Given the description of an element on the screen output the (x, y) to click on. 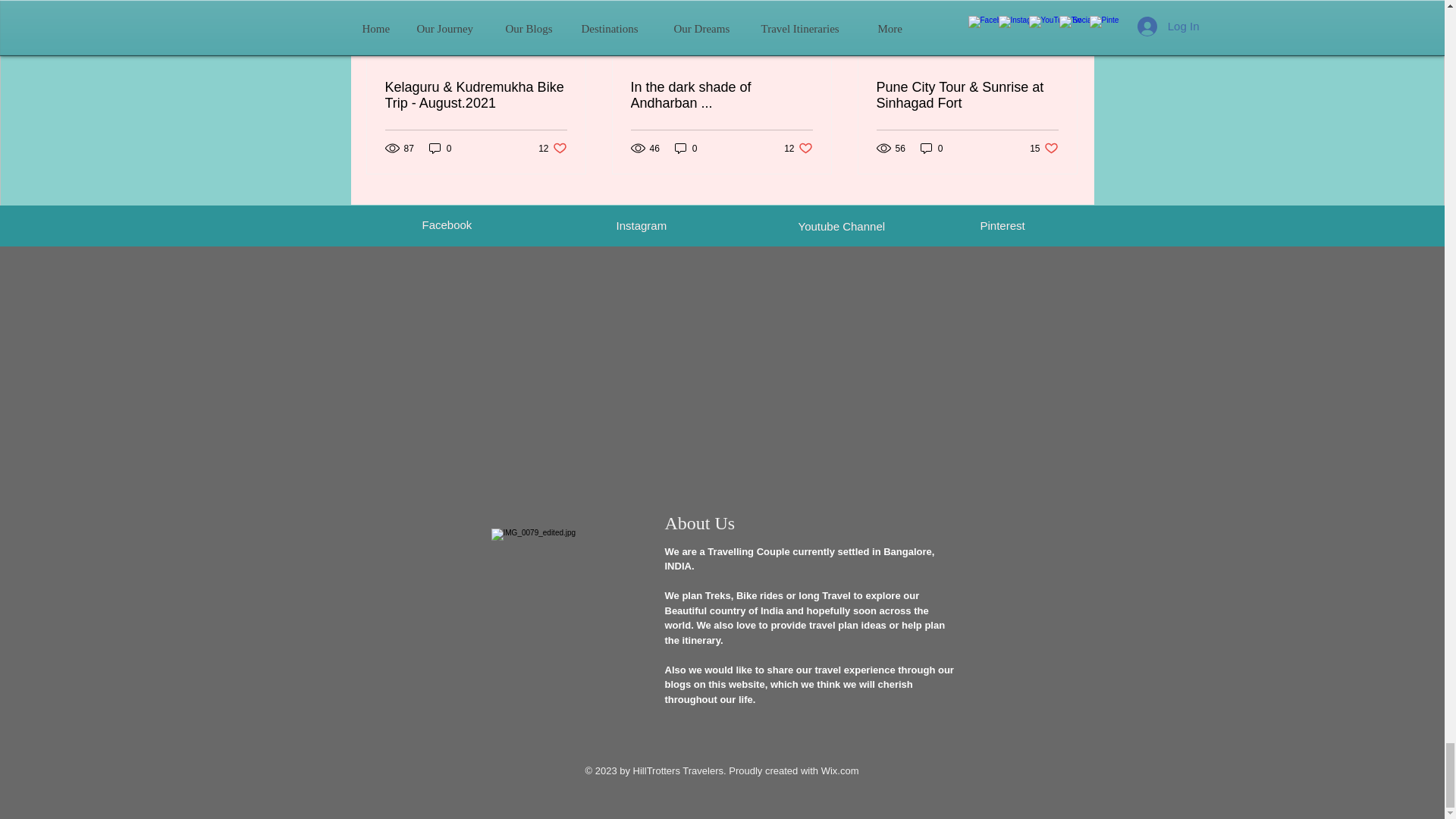
0 (440, 147)
